Given the description of an element on the screen output the (x, y) to click on. 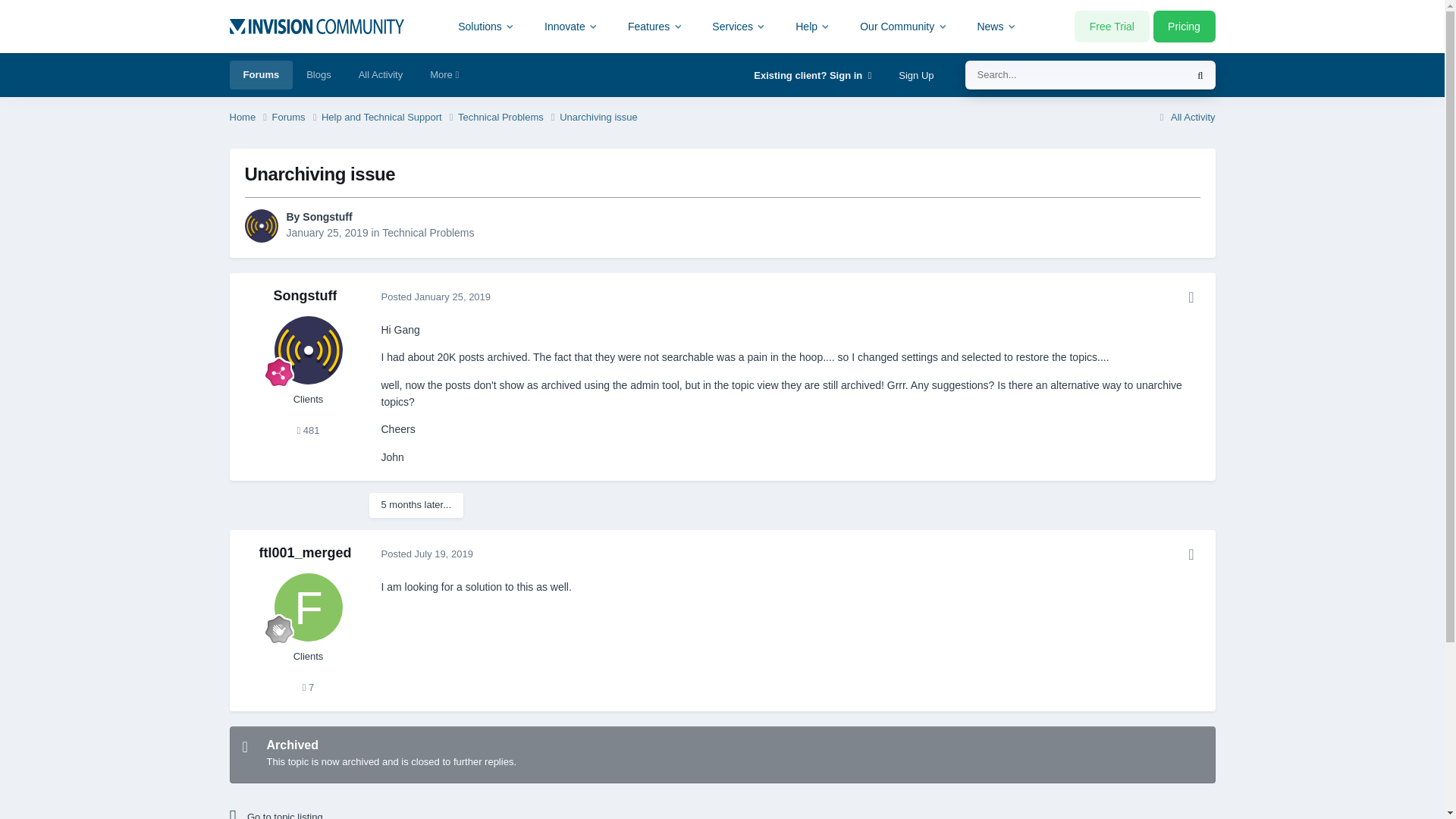
Solutions (486, 26)
Innovate (570, 26)
Home (249, 117)
Features (654, 26)
Help (812, 26)
Services (738, 26)
